Given the description of an element on the screen output the (x, y) to click on. 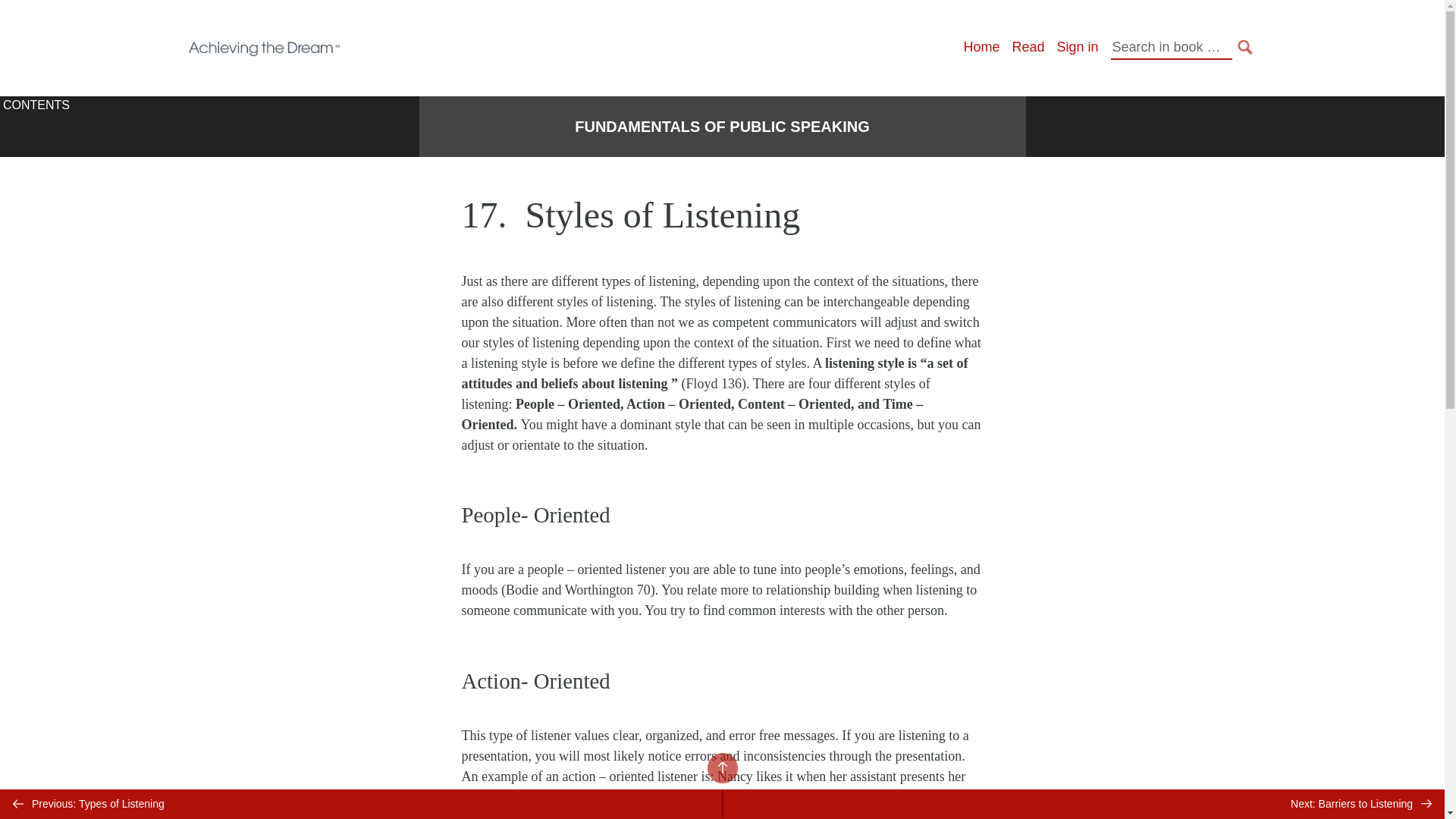
Previous: Types of Listening (361, 804)
Previous: Types of Listening (361, 804)
Home (980, 46)
Sign in (1077, 46)
Read (1027, 46)
BACK TO TOP (721, 767)
FUNDAMENTALS OF PUBLIC SPEAKING (722, 126)
